Given the description of an element on the screen output the (x, y) to click on. 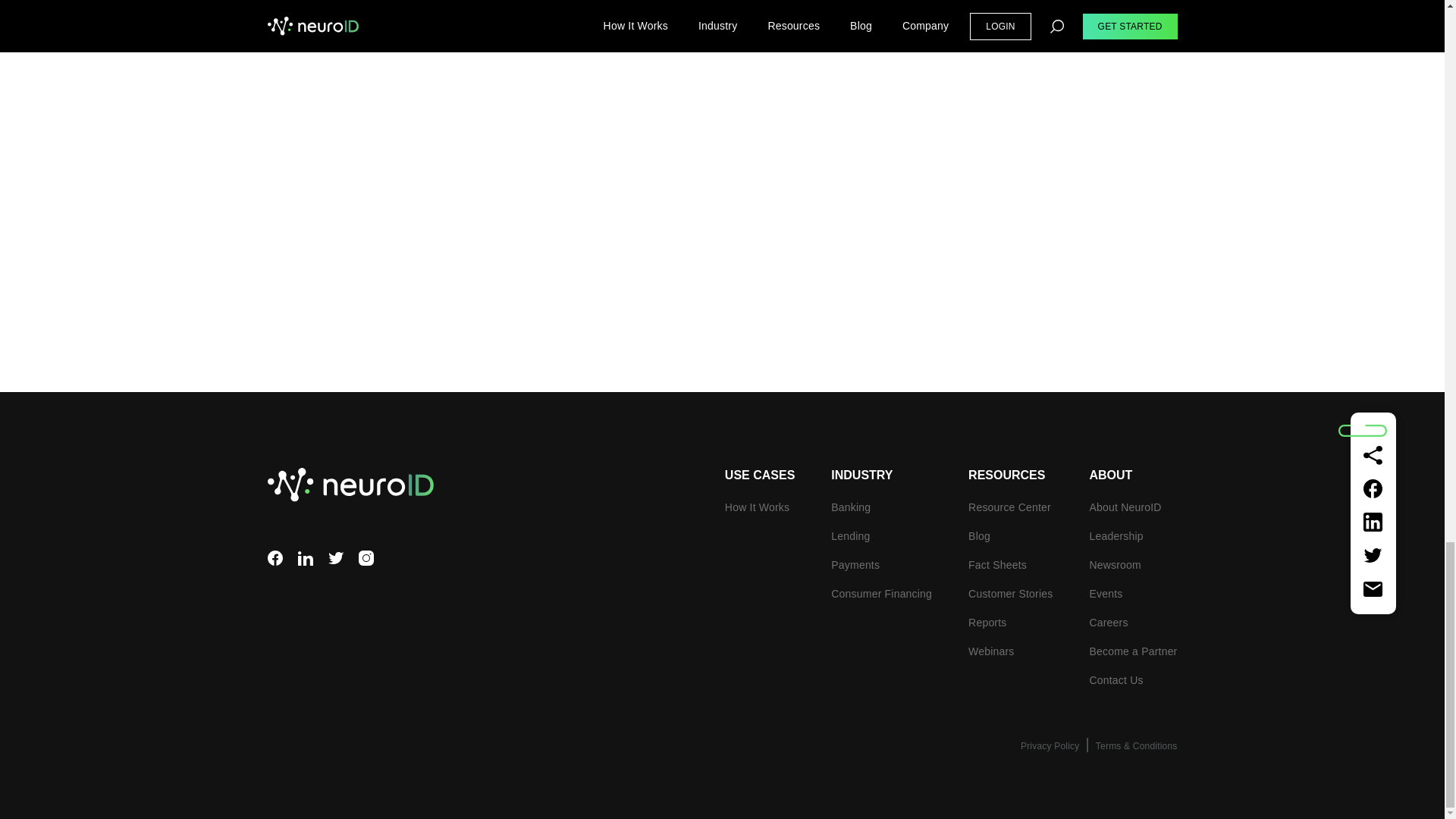
Facebook (274, 557)
